Given the description of an element on the screen output the (x, y) to click on. 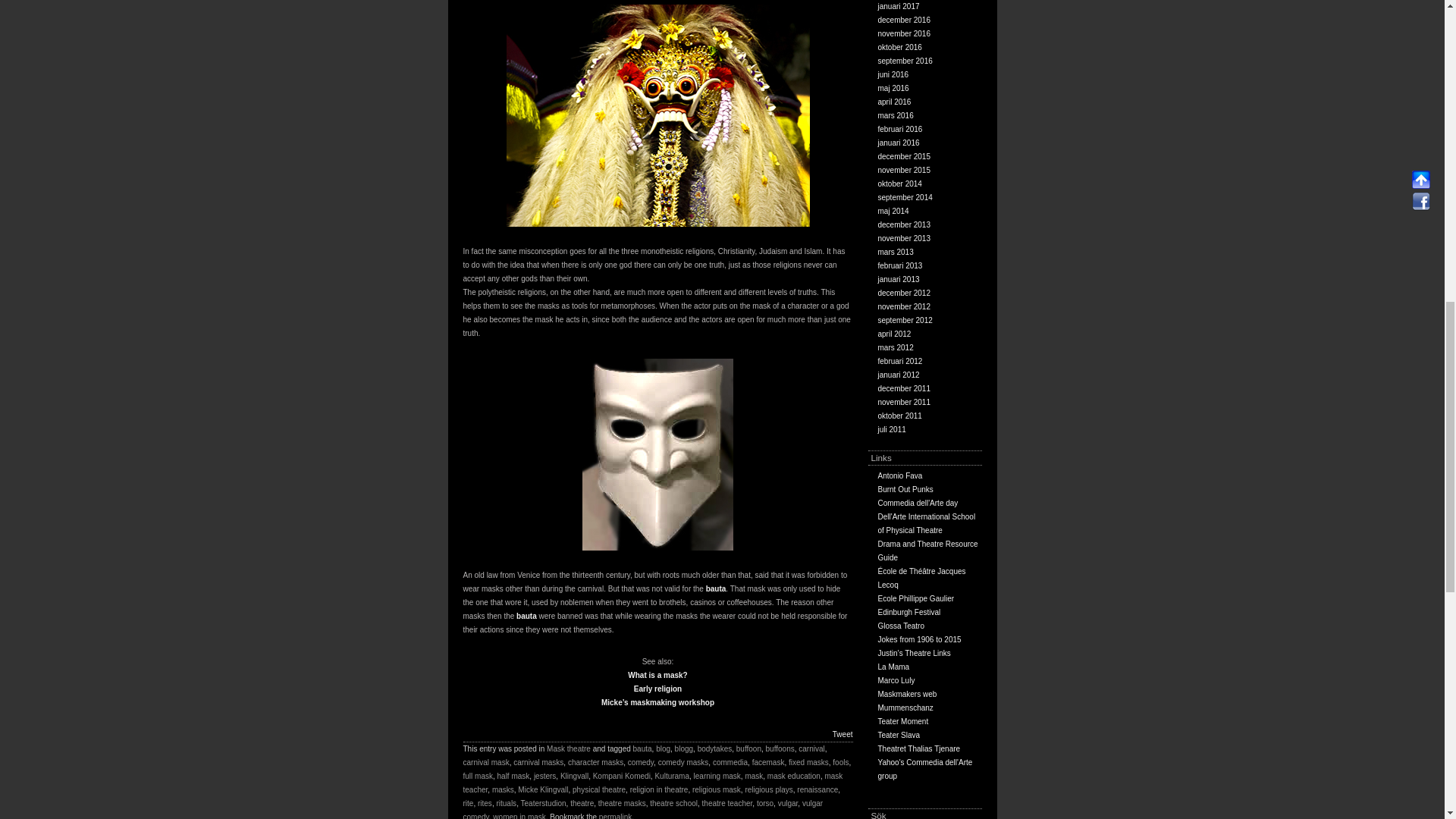
Links for maskmakers (907, 694)
 A link resource site for theatre (913, 653)
Another French school of physical theatre (916, 598)
An Italian company that I have collaborated with. (900, 625)
The famous theatre in New York (893, 666)
THE Fringe festival (908, 612)
The great Swiss mask group (905, 707)
The classic French mime school (921, 577)
Permalink to Western bias of the mask (614, 816)
